Given the description of an element on the screen output the (x, y) to click on. 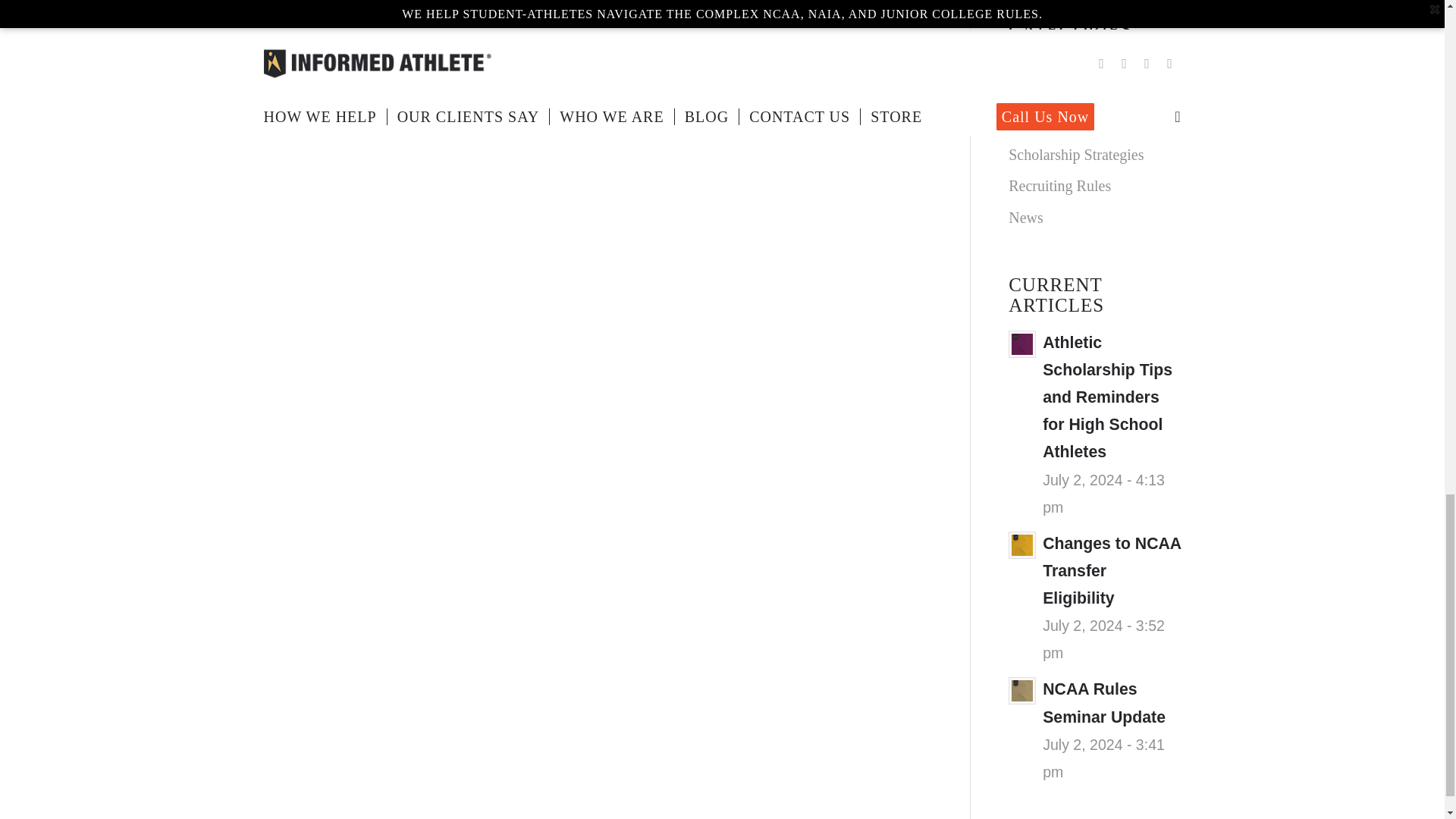
Transfers (1094, 60)
